Given the description of an element on the screen output the (x, y) to click on. 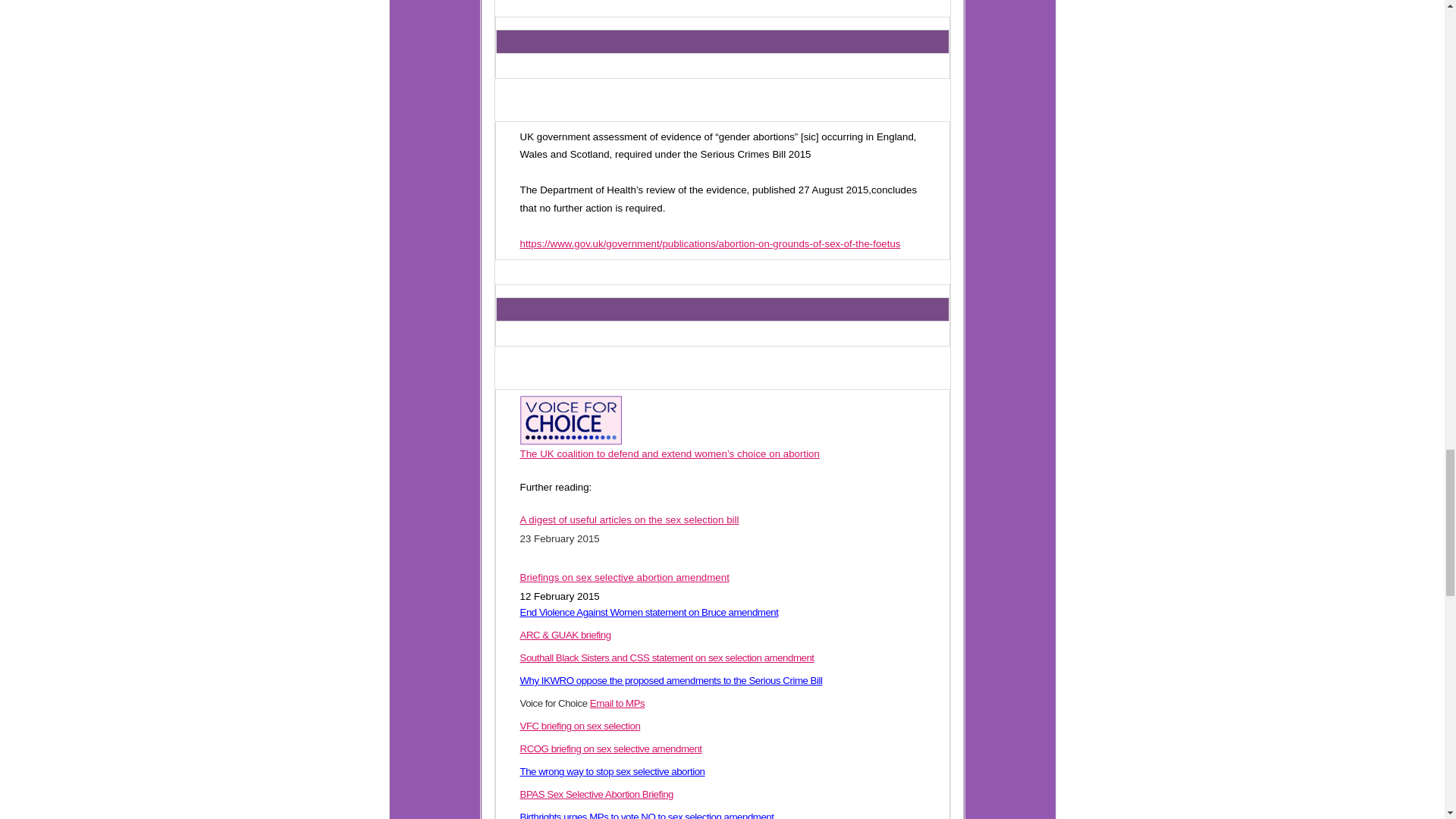
Permalink to Briefings on sex selective abortion amendment (624, 577)
